Given the description of an element on the screen output the (x, y) to click on. 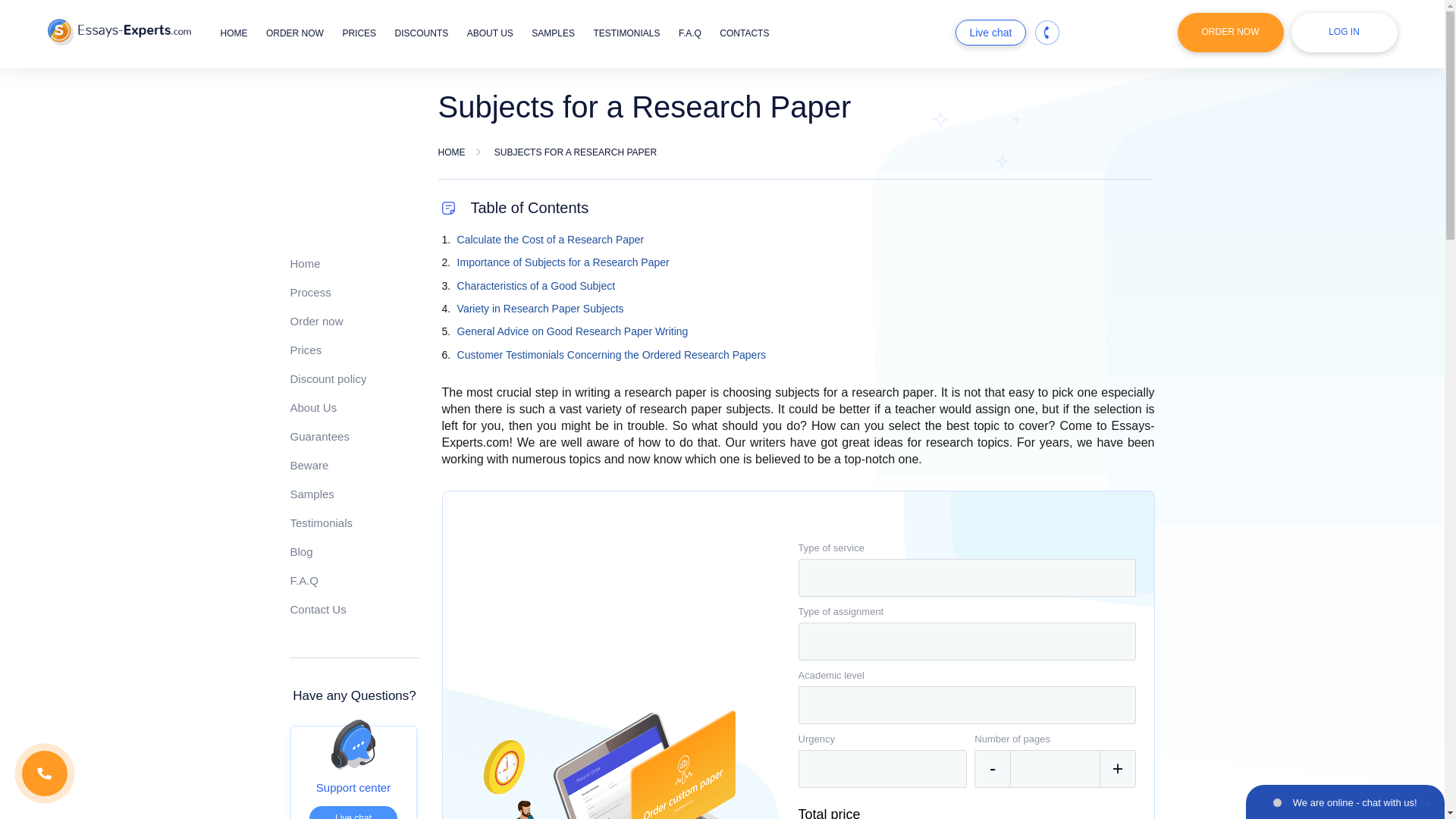
Guarantees (319, 436)
About Us (312, 407)
HOME (233, 32)
Discount policy (327, 378)
Beware (309, 464)
HOME (451, 151)
Blog (301, 551)
F.A.Q (303, 580)
CONTACTS (743, 32)
Prices (305, 349)
